Given the description of an element on the screen output the (x, y) to click on. 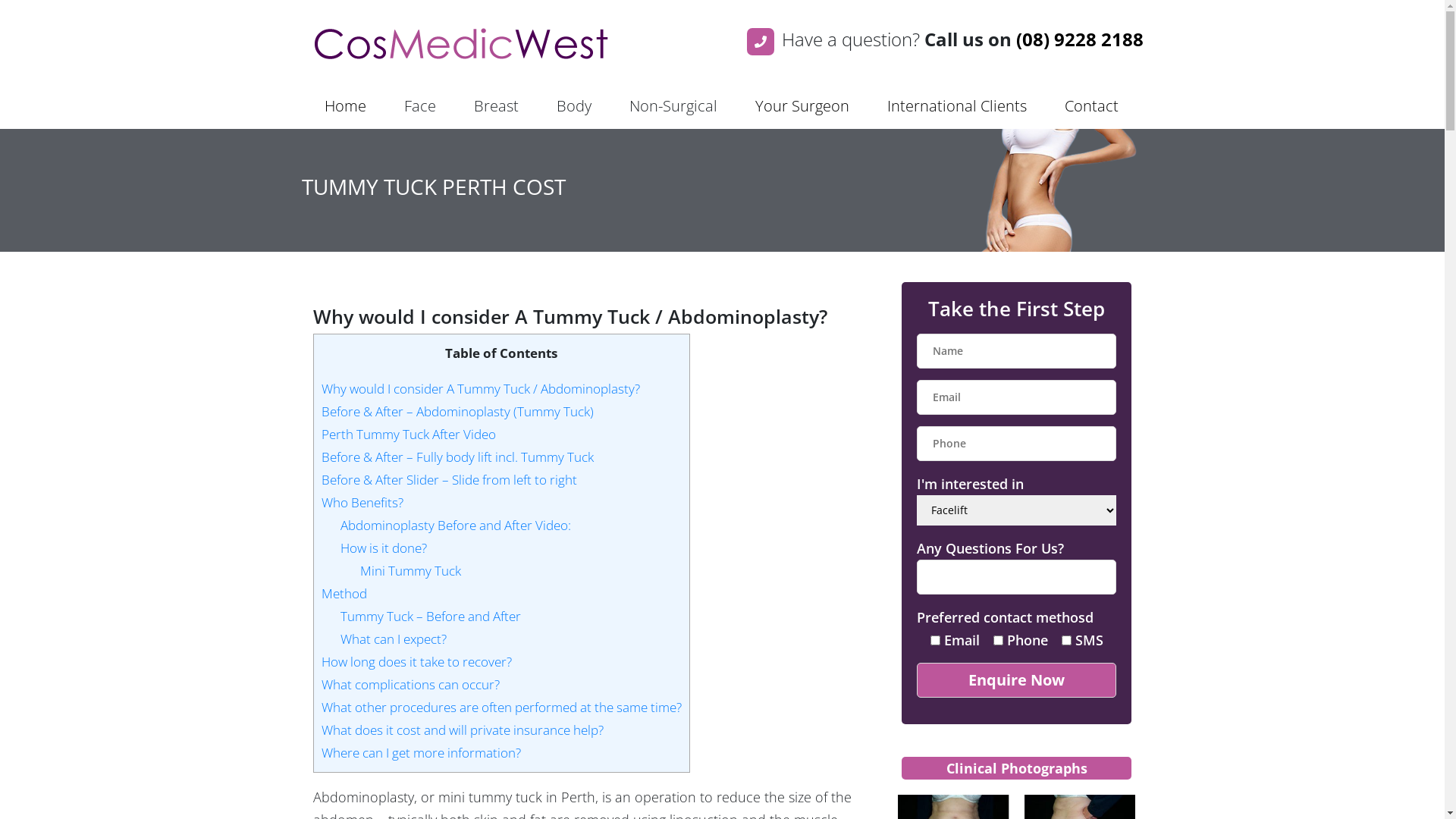
Method Element type: text (344, 593)
What does it cost and will private insurance help? Element type: text (462, 729)
Non-Surgical Element type: text (673, 106)
Your Surgeon Element type: text (802, 106)
Why would I consider A Tummy Tuck / Abdominoplasty? Element type: text (480, 388)
What other procedures are often performed at the same time? Element type: text (501, 706)
How is it done? Element type: text (383, 547)
How long does it take to recover? Element type: text (416, 661)
Breast Element type: text (495, 106)
Enquire Now Element type: text (1016, 679)
Perth Tummy Tuck After Video Element type: text (408, 433)
Contact Element type: text (1091, 106)
Where can I get more information? Element type: text (420, 752)
Mini Tummy Tuck Element type: text (410, 570)
What can I expect? Element type: text (393, 638)
Abdominoplasty Before and After Video: Element type: text (455, 524)
(08) 9228 2188 Element type: text (1079, 38)
International Clients Element type: text (956, 106)
Face Element type: text (419, 106)
Body Element type: text (573, 106)
What complications can occur? Element type: text (410, 684)
Who Benefits? Element type: text (362, 502)
Home Element type: text (345, 106)
